Given the description of an element on the screen output the (x, y) to click on. 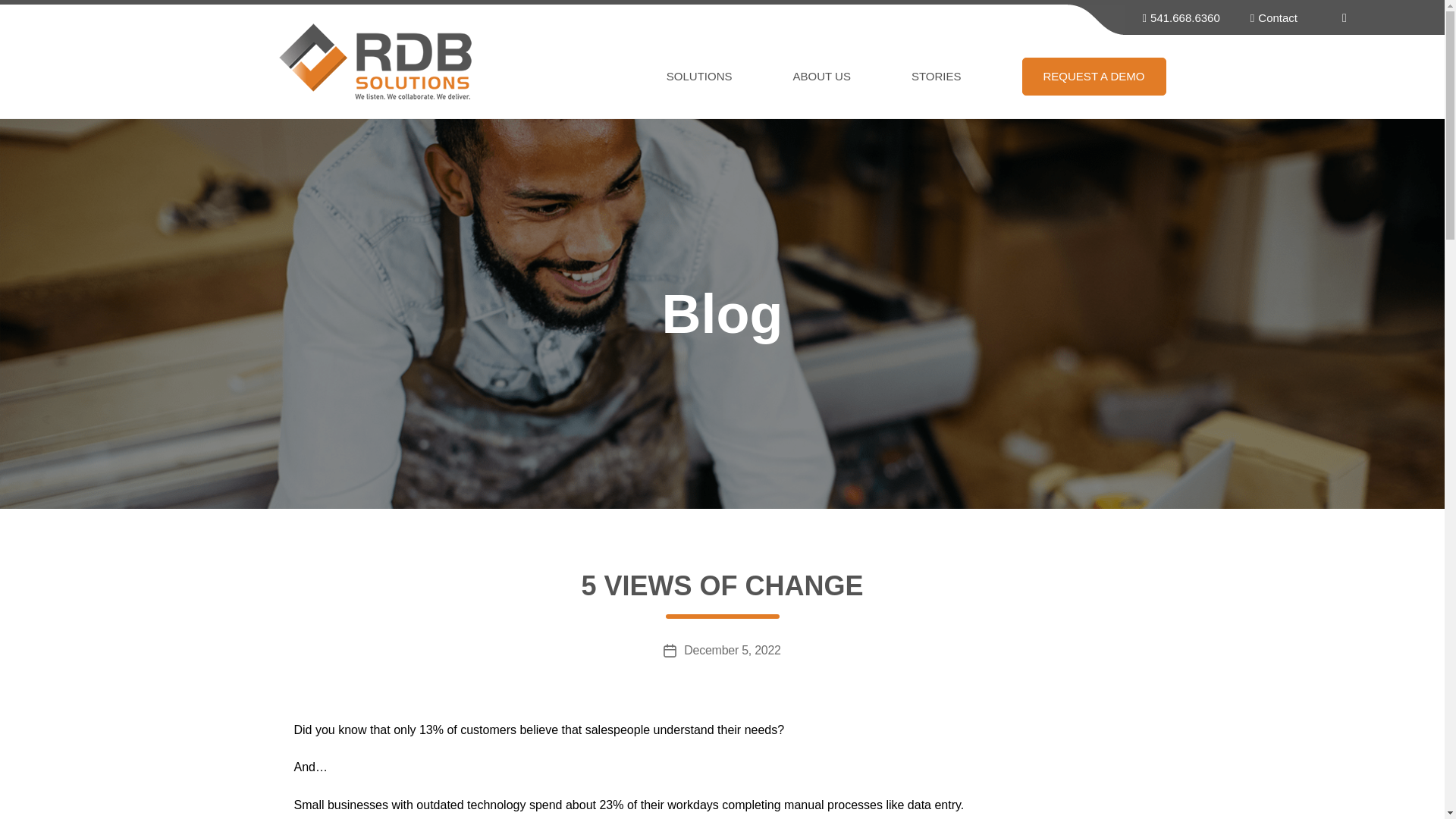
REQUEST A DEMO (1094, 76)
541.668.6360 (1177, 16)
STORIES (966, 76)
ABOUT US (852, 76)
Contact (1270, 16)
Linkedin (1344, 17)
SOLUTIONS (729, 76)
